Given the description of an element on the screen output the (x, y) to click on. 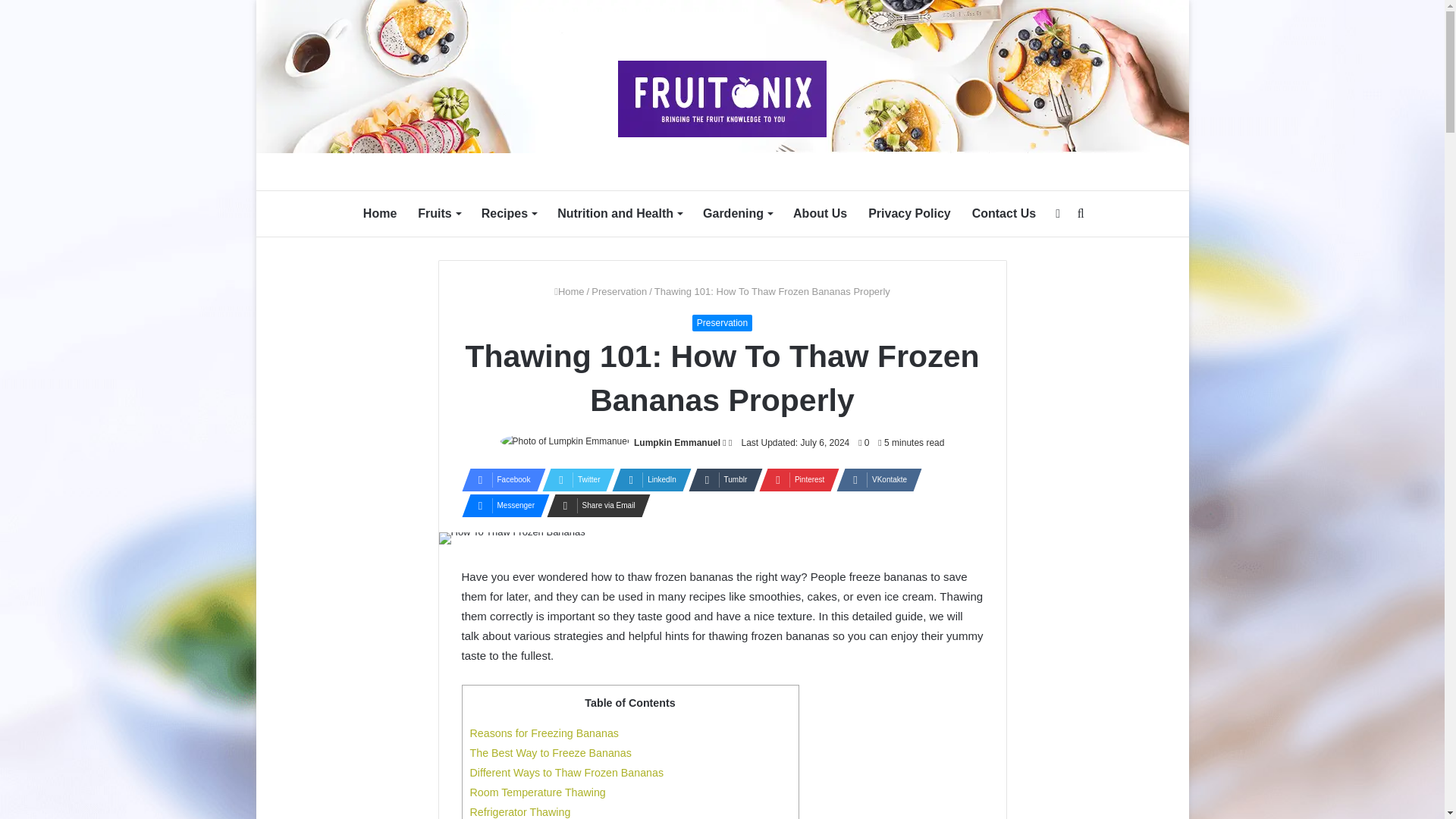
Room Temperature Thawing (537, 792)
Share via Email (594, 505)
Share via Email (594, 505)
Pinterest (793, 479)
Home (568, 291)
Gardening (738, 213)
Pinterest (793, 479)
Twitter (573, 479)
Tumblr (721, 479)
The Best Way to Freeze Bananas (550, 752)
LinkedIn (646, 479)
Nutrition and Health (620, 213)
VKontakte (873, 479)
LinkedIn (646, 479)
Recipes (508, 213)
